Given the description of an element on the screen output the (x, y) to click on. 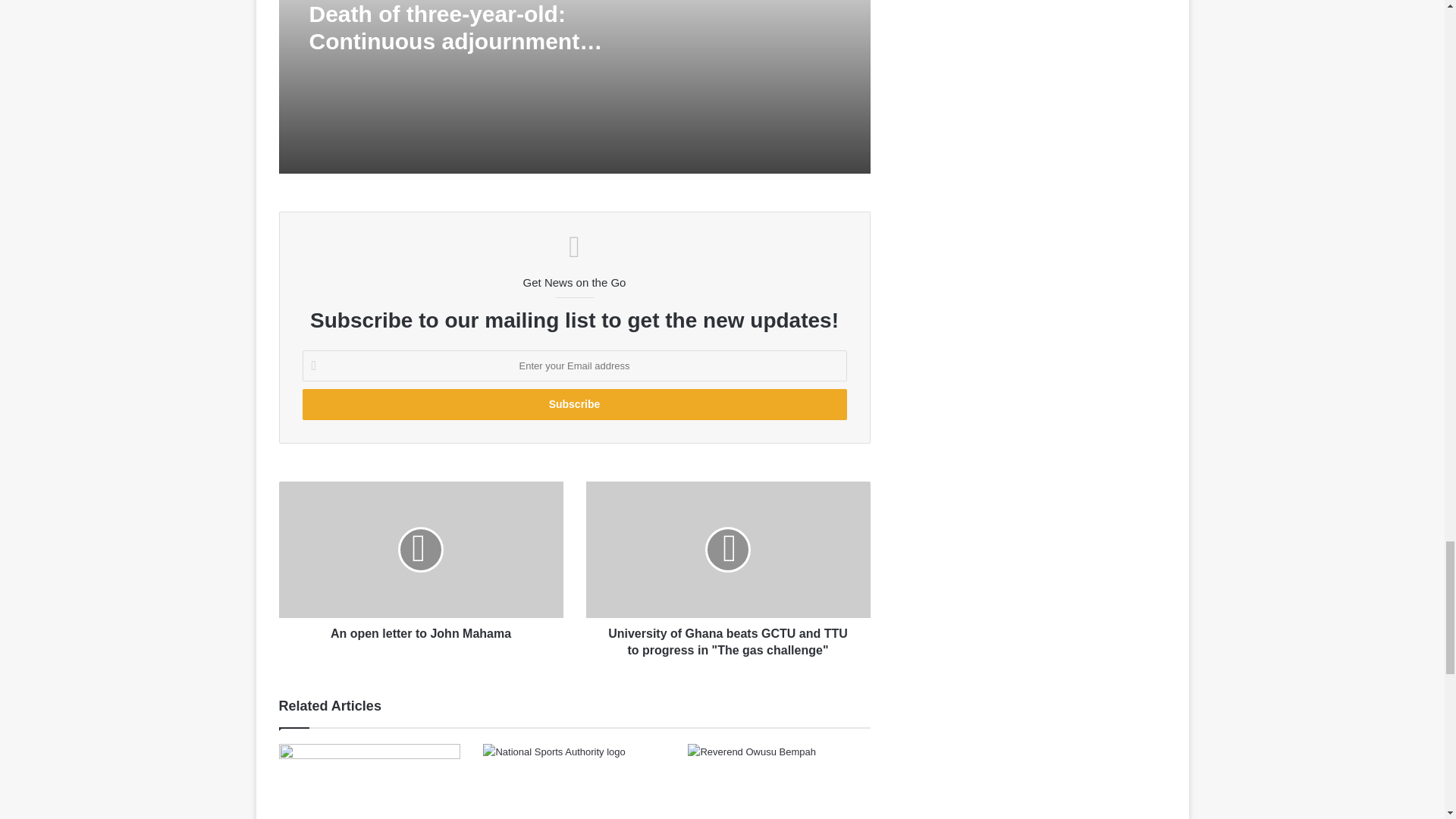
Subscribe (573, 404)
